Given the description of an element on the screen output the (x, y) to click on. 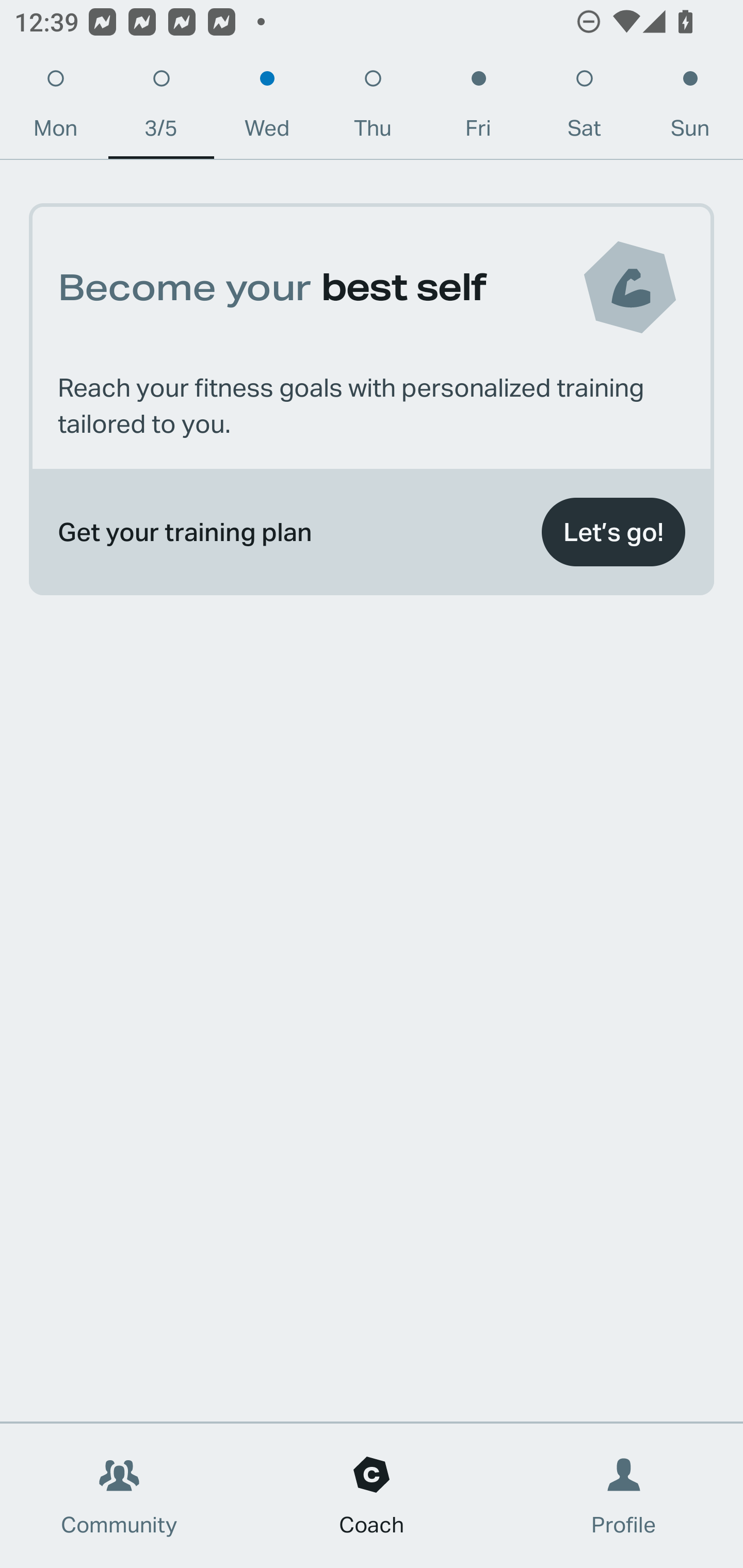
Mon (55, 108)
3/5 (160, 108)
Wed (266, 108)
Thu (372, 108)
Fri (478, 108)
Sat (584, 108)
Sun (690, 108)
Let’s go! (613, 532)
Community (119, 1495)
Profile (624, 1495)
